Given the description of an element on the screen output the (x, y) to click on. 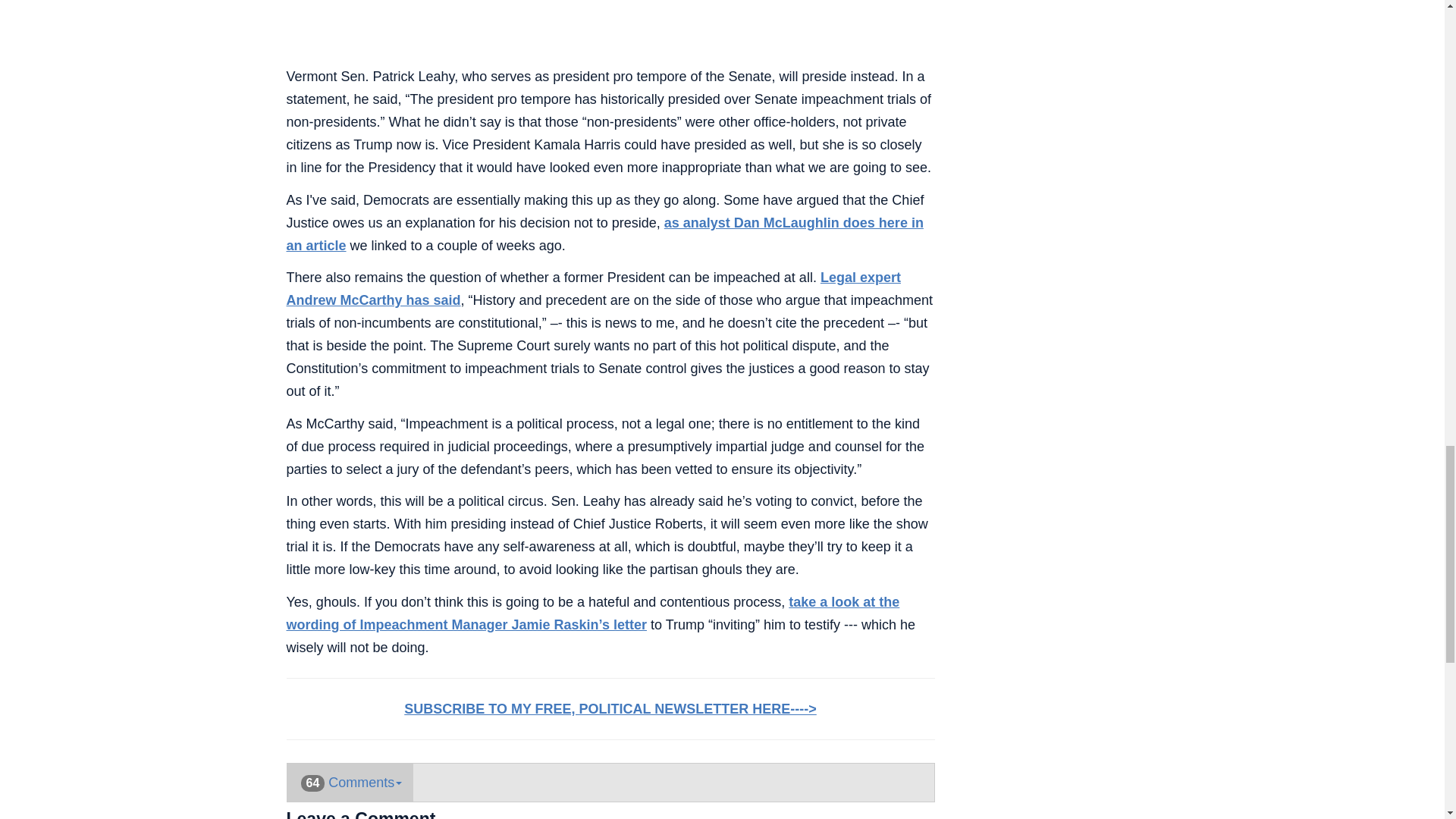
Legal expert Andrew McCarthy has said (593, 288)
as analyst Dan McLaughlin does here in an article (604, 234)
64 Comments (349, 782)
